Given the description of an element on the screen output the (x, y) to click on. 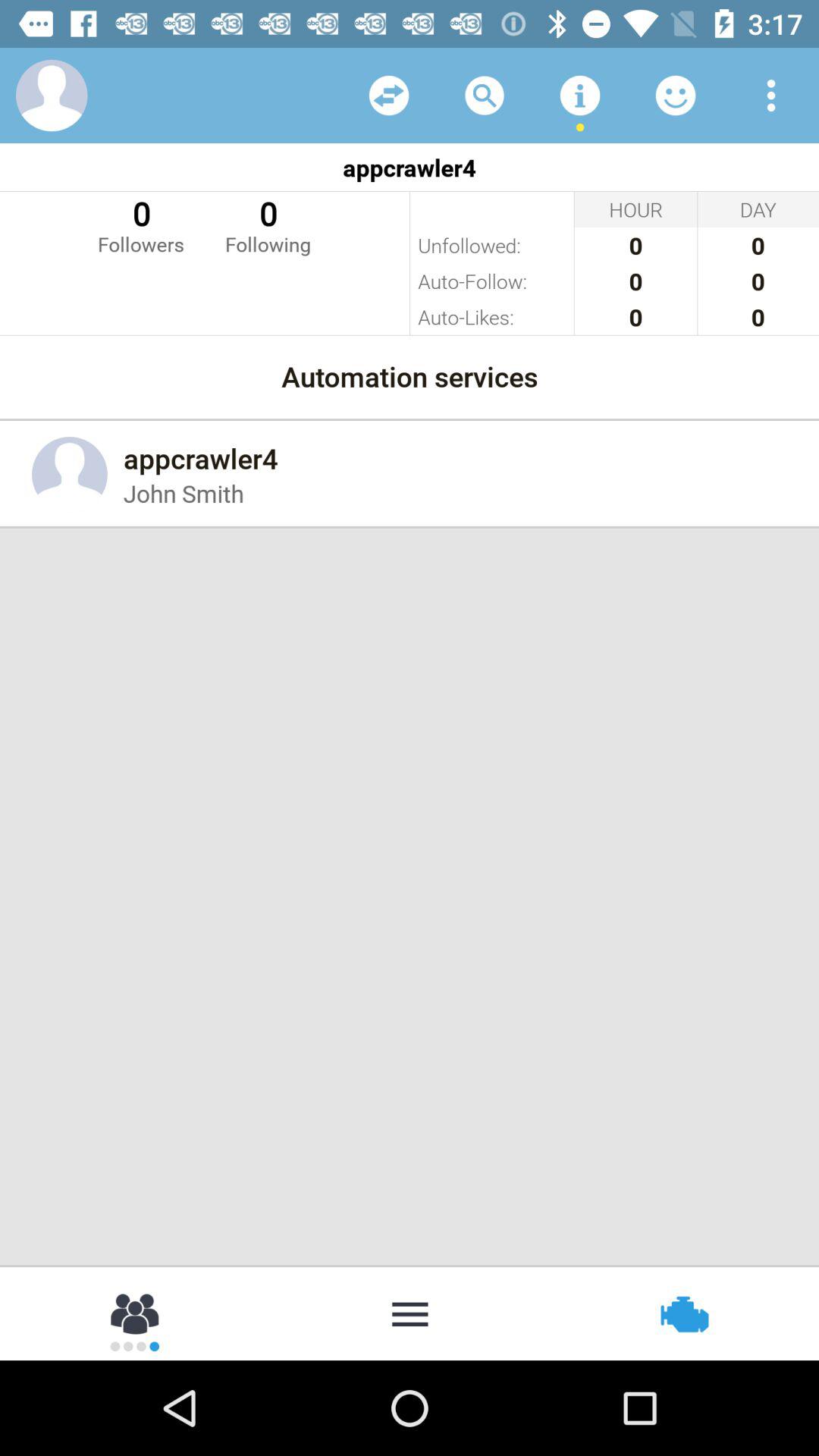
press item above the appcrawler4 icon (675, 95)
